Given the description of an element on the screen output the (x, y) to click on. 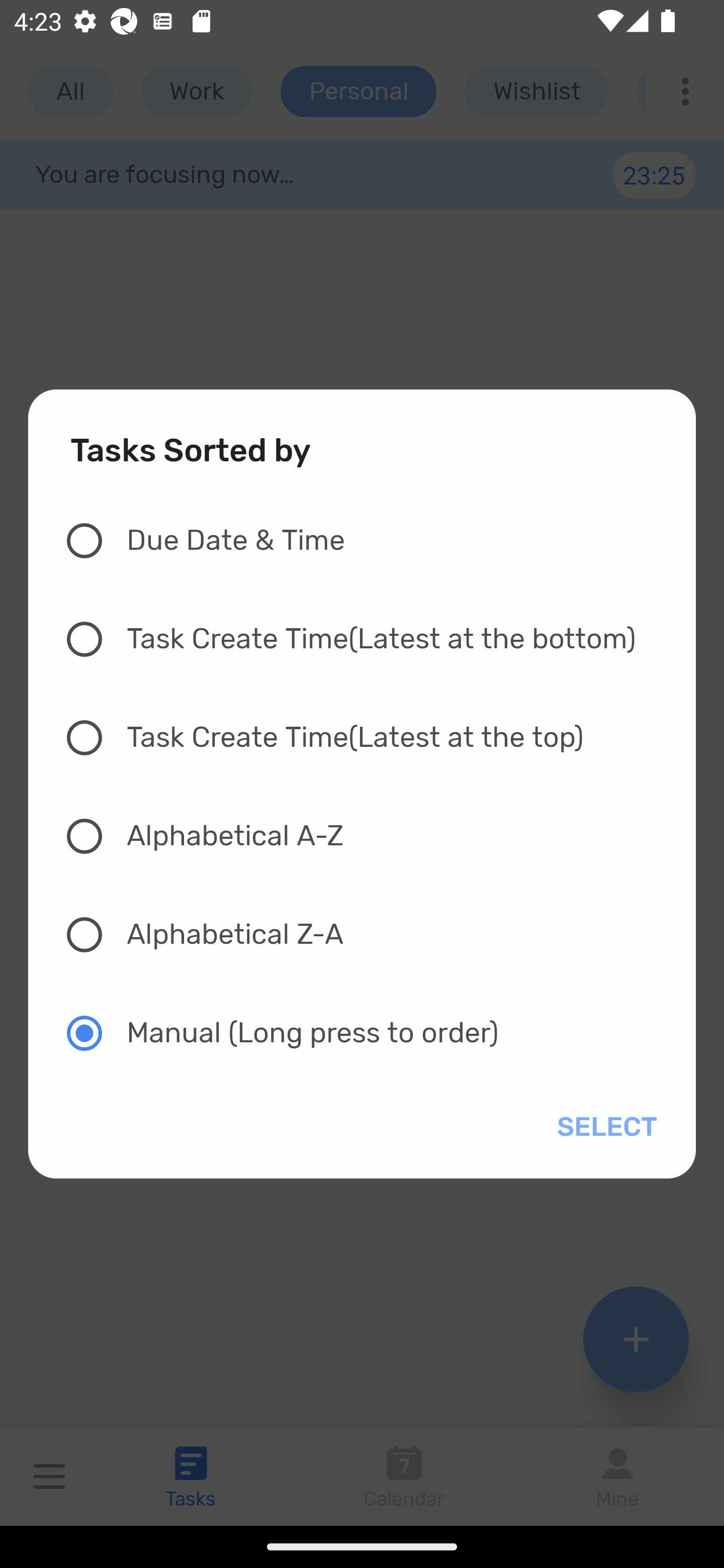
Due Date & Time (372, 540)
Task Create Time(Latest at the bottom) (372, 639)
Task Create Time(Latest at the top) (372, 737)
Alphabetical A-Z (372, 835)
Alphabetical Z-A (372, 934)
Manual (Long press to order) (372, 1033)
SELECT (603, 1127)
